Given the description of an element on the screen output the (x, y) to click on. 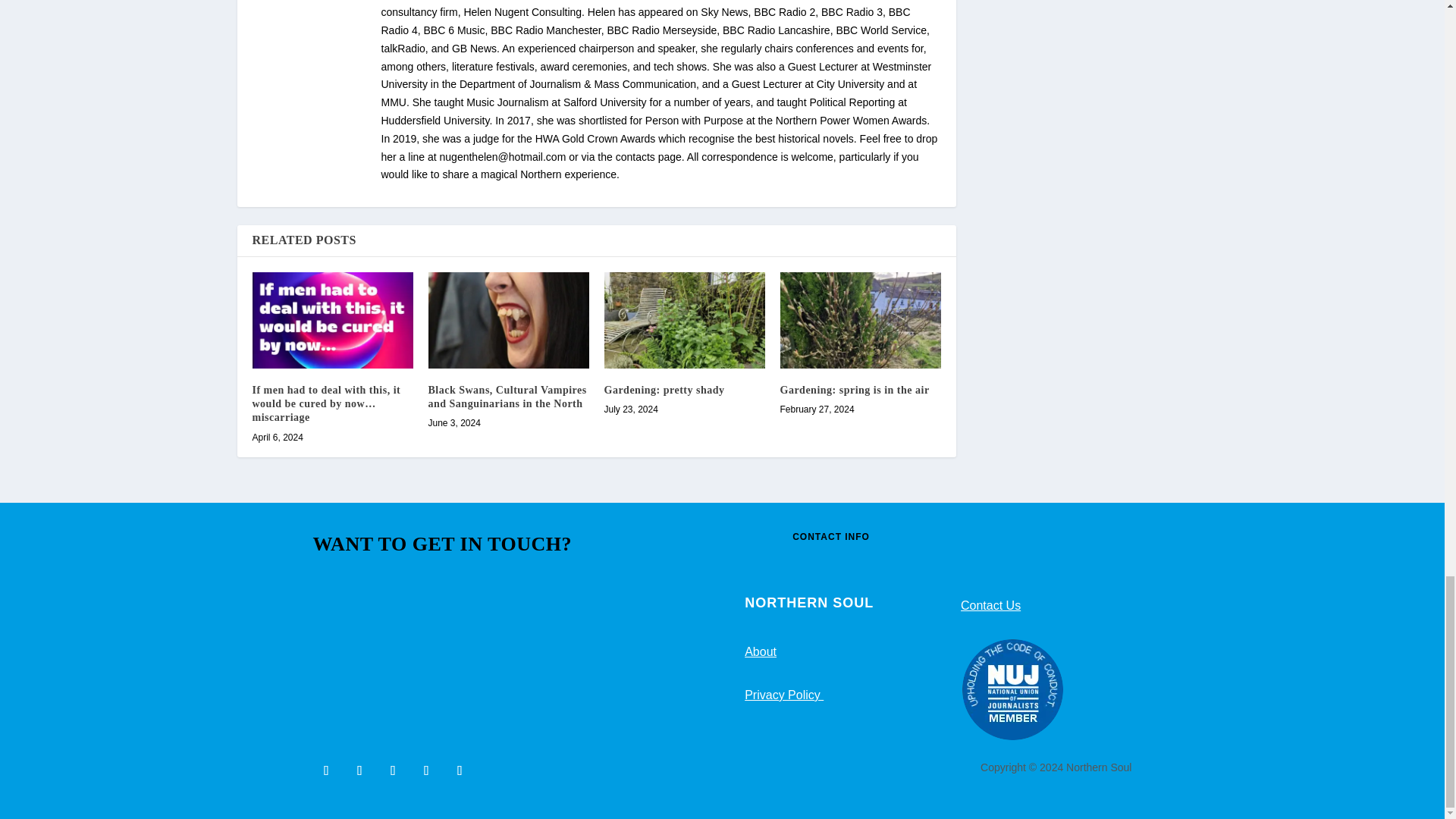
Gardening: pretty shady (684, 319)
Gardening: spring is in the air (859, 319)
Electronic-NUJ-badge-blue (1012, 690)
